Given the description of an element on the screen output the (x, y) to click on. 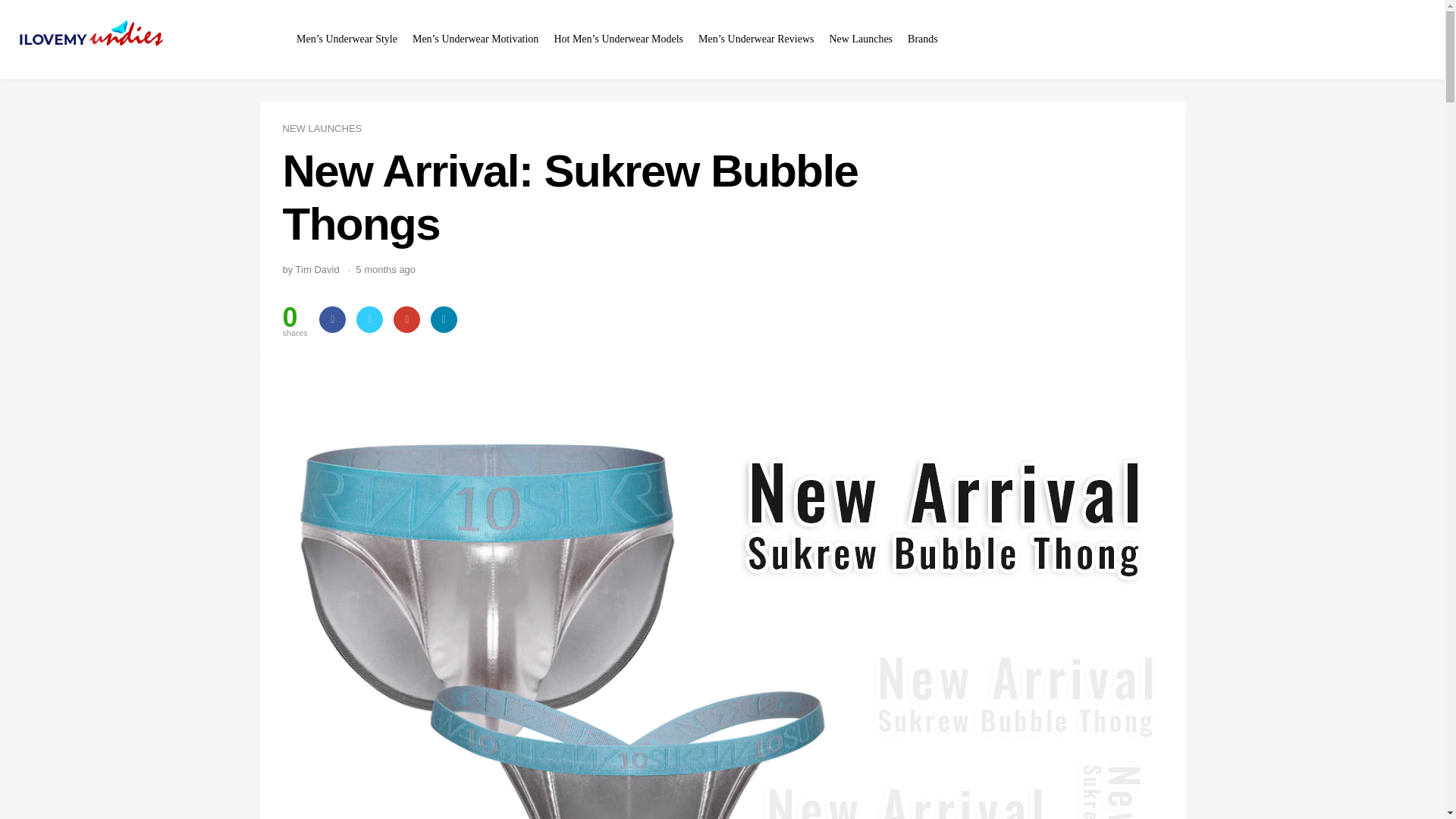
NEW LAUNCHES (321, 128)
New Arrival: Sukrew Bubble Thongs (721, 197)
New Launches (860, 39)
